Given the description of an element on the screen output the (x, y) to click on. 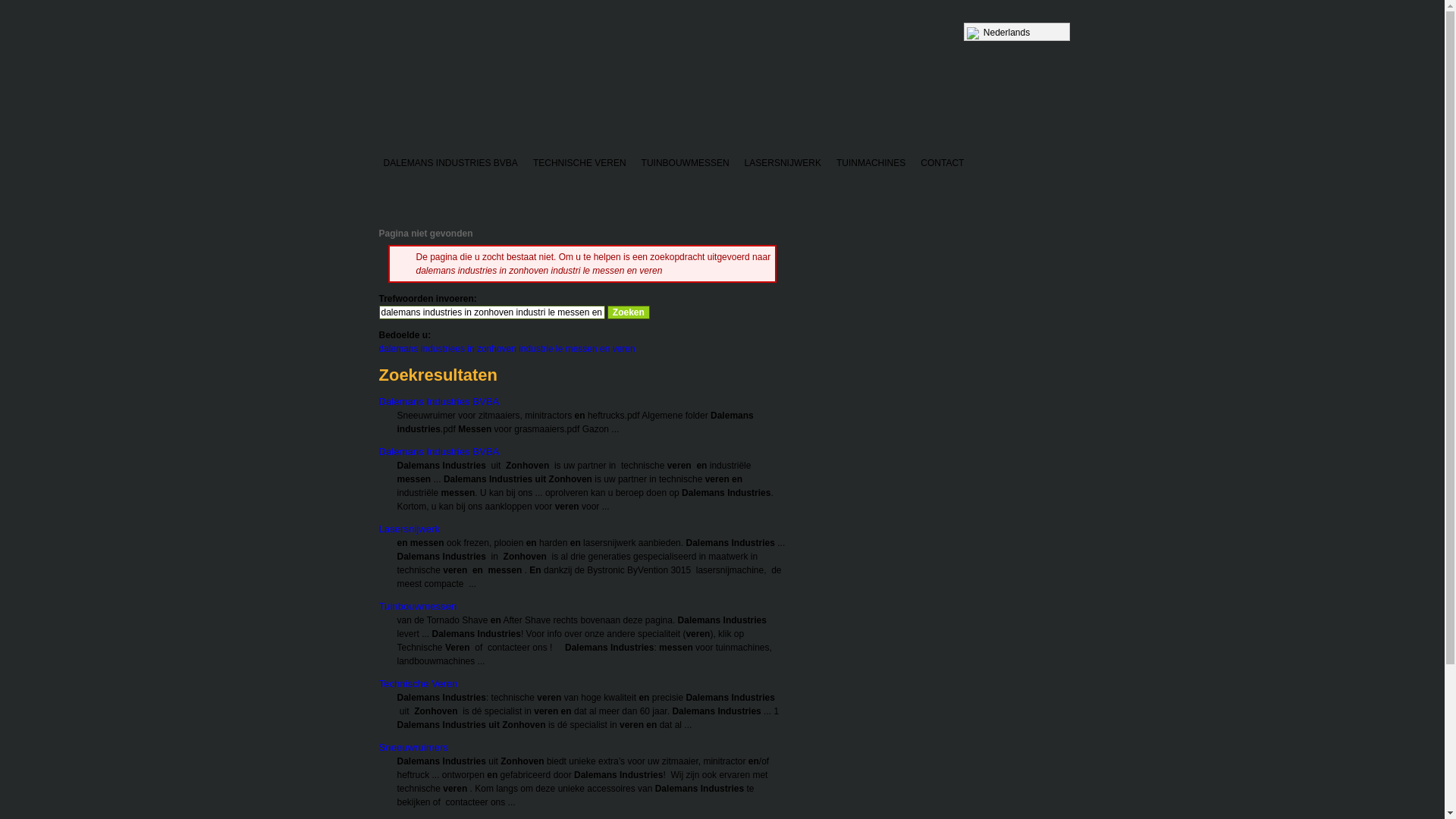
Lasersnijwerk Element type: text (409, 528)
TUINBOUWMESSEN Element type: text (685, 163)
TUINMACHINES Element type: text (870, 163)
Dalemans Industries BVBA Element type: text (439, 451)
Tuinbouwmessen Element type: text (418, 605)
CONTACT Element type: text (942, 163)
LASERSNIJWERK Element type: text (782, 163)
Dalemans Industries BVBA Element type: text (439, 401)
DALEMANS INDUSTRIES BVBA Element type: text (450, 163)
Sneeuwruimers Element type: text (413, 747)
Technische Veren Element type: text (418, 683)
TECHNISCHE VEREN Element type: text (579, 163)
Zoeken Element type: text (628, 312)
